Given the description of an element on the screen output the (x, y) to click on. 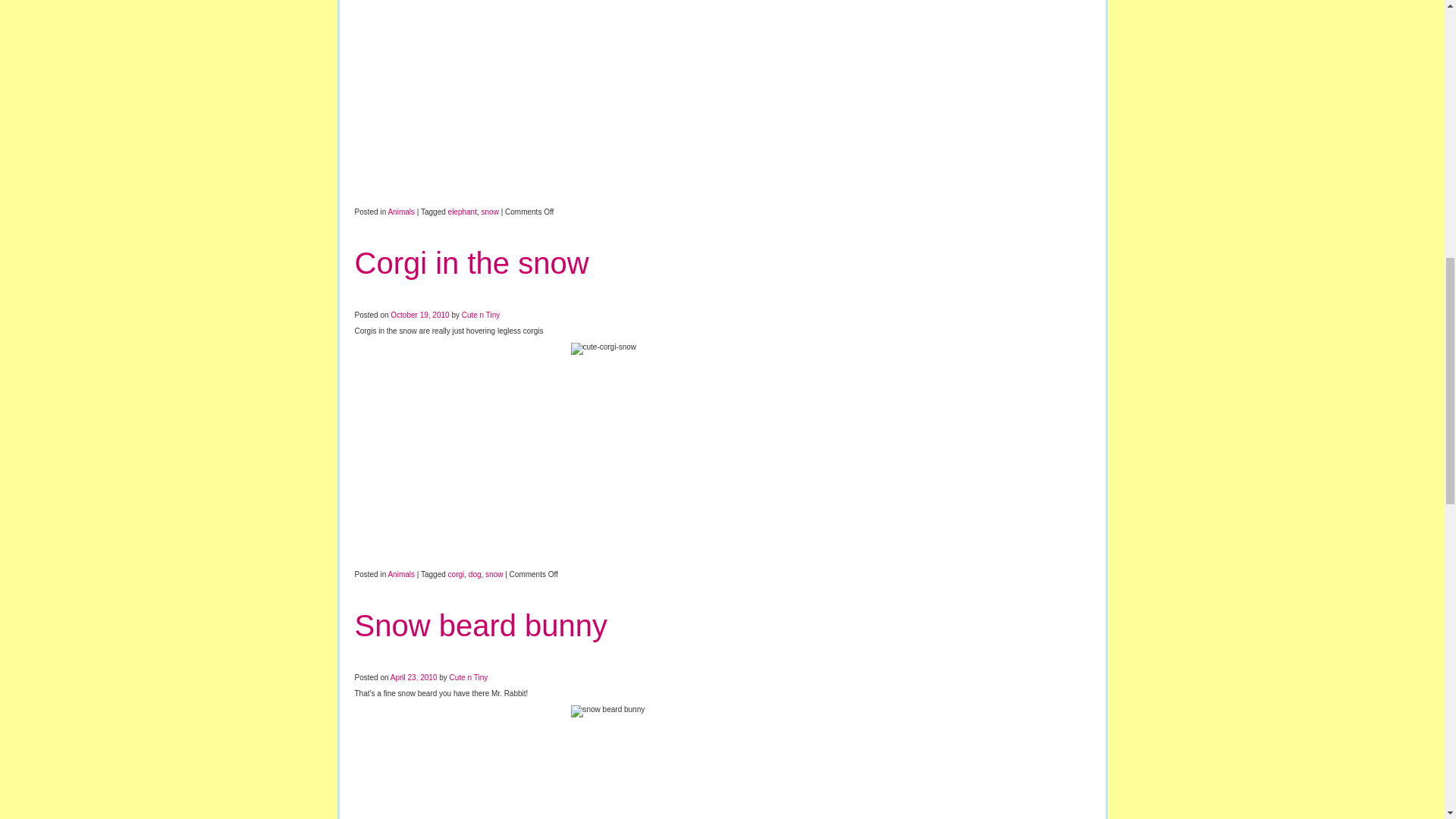
Animals (400, 212)
dog (474, 574)
snow beard bunny (721, 762)
View all posts by Cute n Tiny (468, 677)
snow (490, 212)
Cute n Tiny (480, 315)
elephant (462, 212)
View all posts by Cute n Tiny (480, 315)
Cute n Tiny (468, 677)
baby-elephant-snow (722, 99)
April 23, 2010 (414, 677)
Permalink to Corgi in the snow (472, 263)
Permalink to Snow beard bunny (481, 625)
cute-corgi-snow (721, 452)
Animals (400, 574)
